Given the description of an element on the screen output the (x, y) to click on. 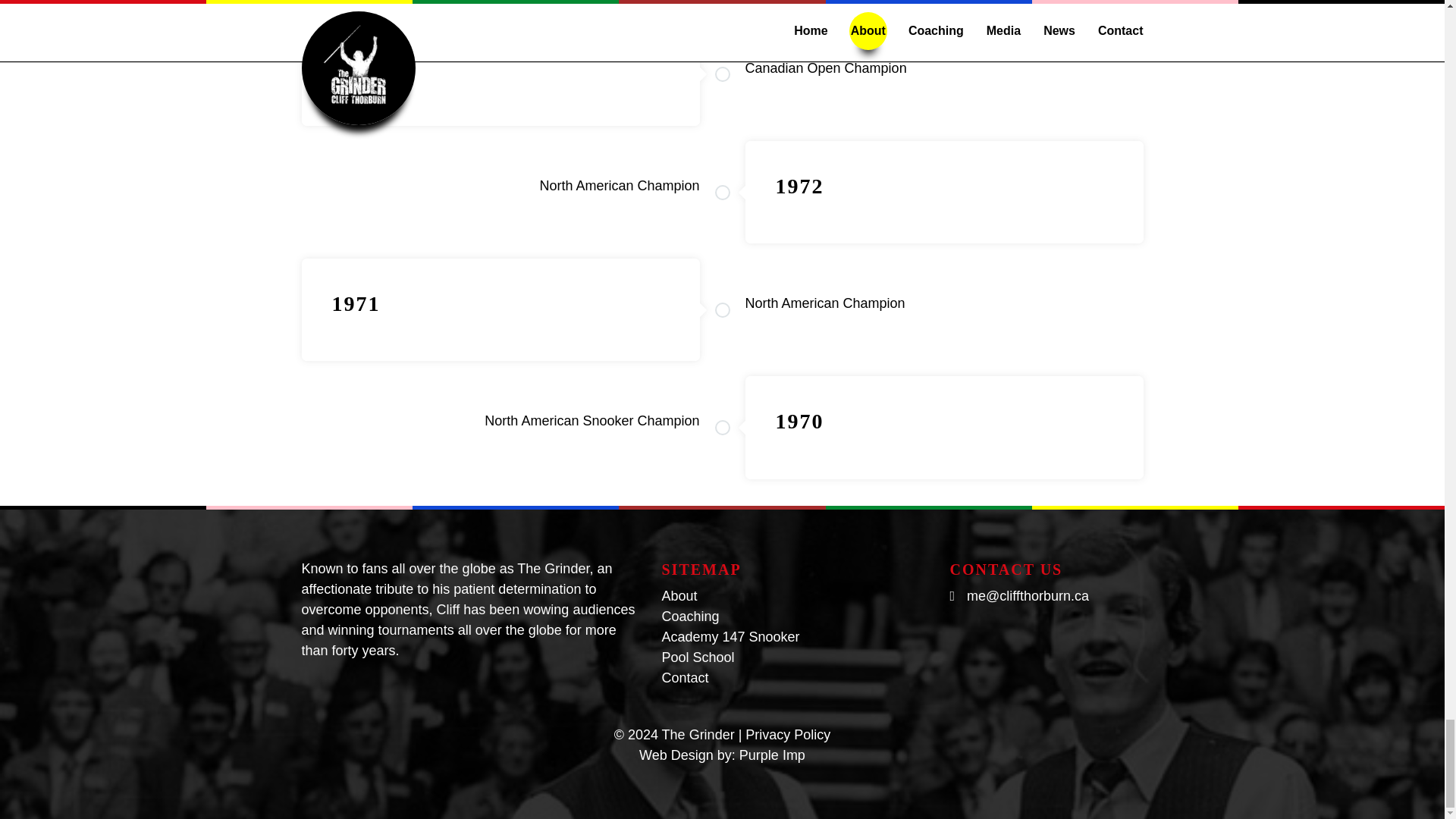
Coaching (690, 616)
Privacy Policy (787, 734)
About (679, 595)
Contact (684, 676)
Purple Imp (772, 754)
Academy 147 Snooker (730, 635)
Pool School (697, 657)
